Given the description of an element on the screen output the (x, y) to click on. 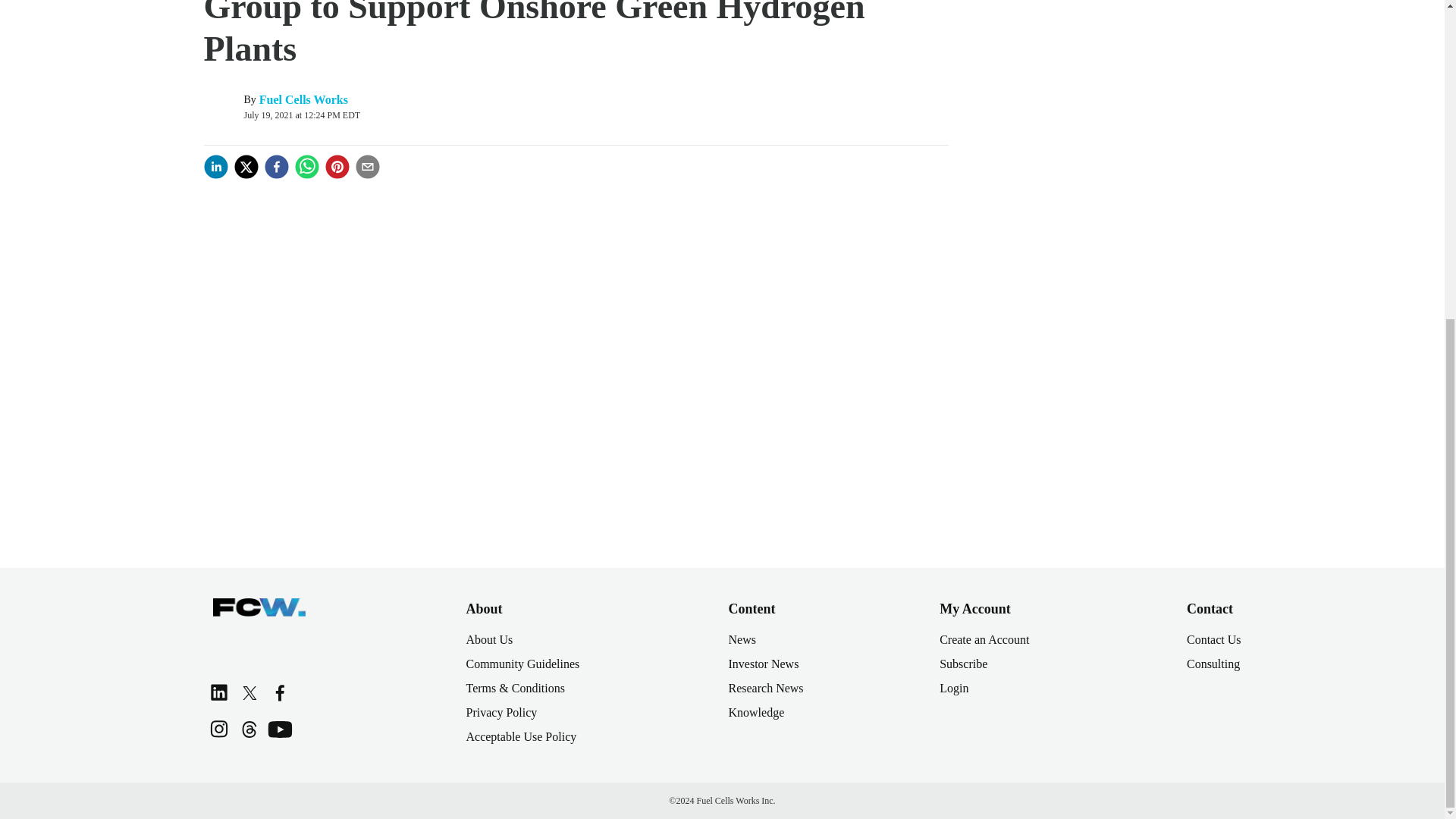
Knowledge (756, 712)
Research News (765, 687)
Investor News (762, 663)
Privacy Policy (501, 712)
News (741, 639)
Create an Account (984, 639)
Community Guidelines (522, 663)
Subscribe (963, 663)
About Us (488, 639)
Acceptable Use Policy (520, 736)
